Given the description of an element on the screen output the (x, y) to click on. 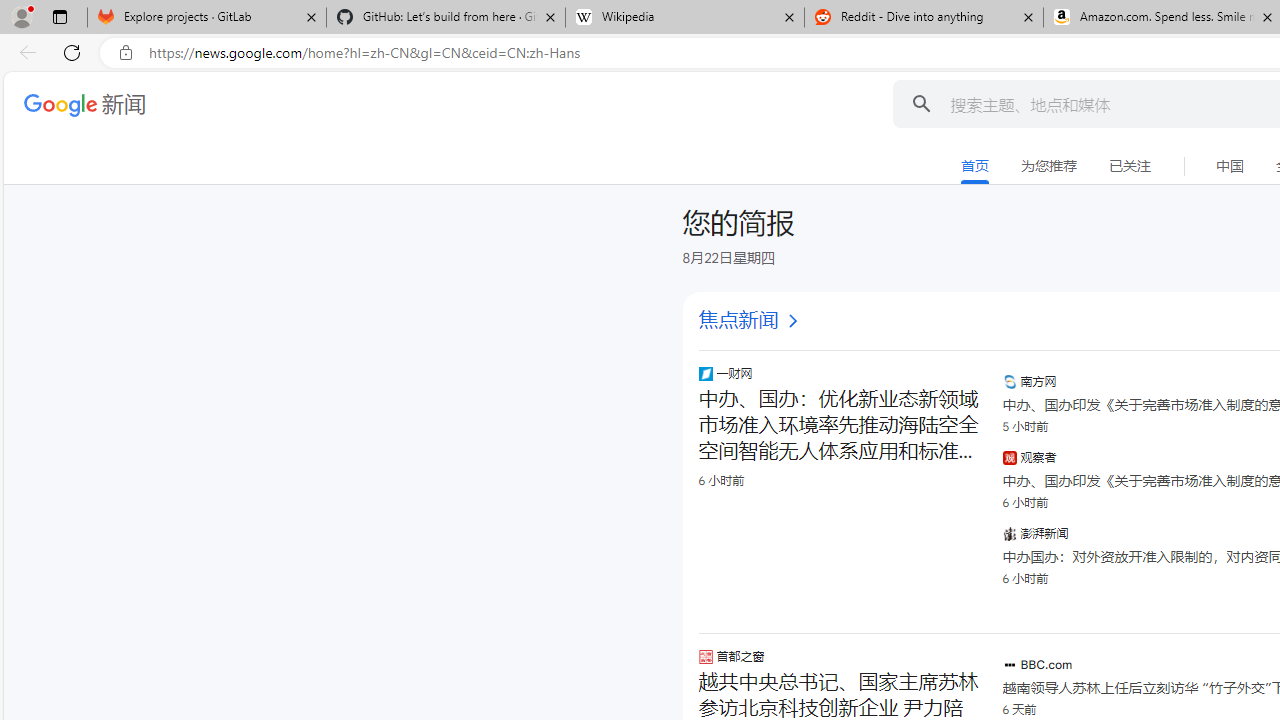
AutomationID: i10 (792, 321)
